Given the description of an element on the screen output the (x, y) to click on. 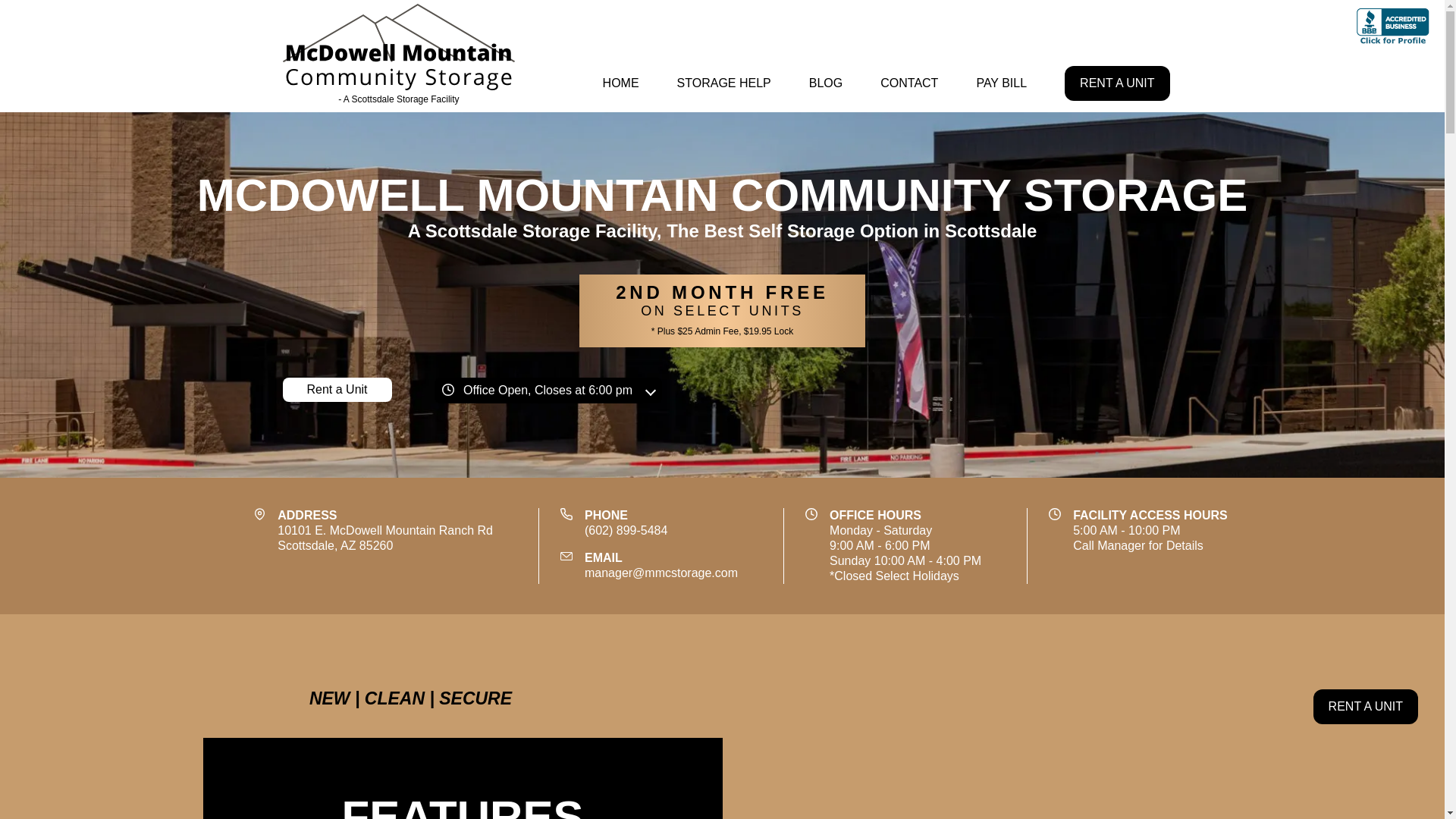
Office Open, Closes at 6:00 pm (547, 390)
HOME (620, 83)
RENT A UNIT (1365, 706)
Rent a Unit (336, 389)
RENT A UNIT (385, 538)
PAY BILL (1116, 83)
- A Scottsdale Storage Facility (1001, 83)
BLOG (398, 56)
CONTACT (825, 83)
